Given the description of an element on the screen output the (x, y) to click on. 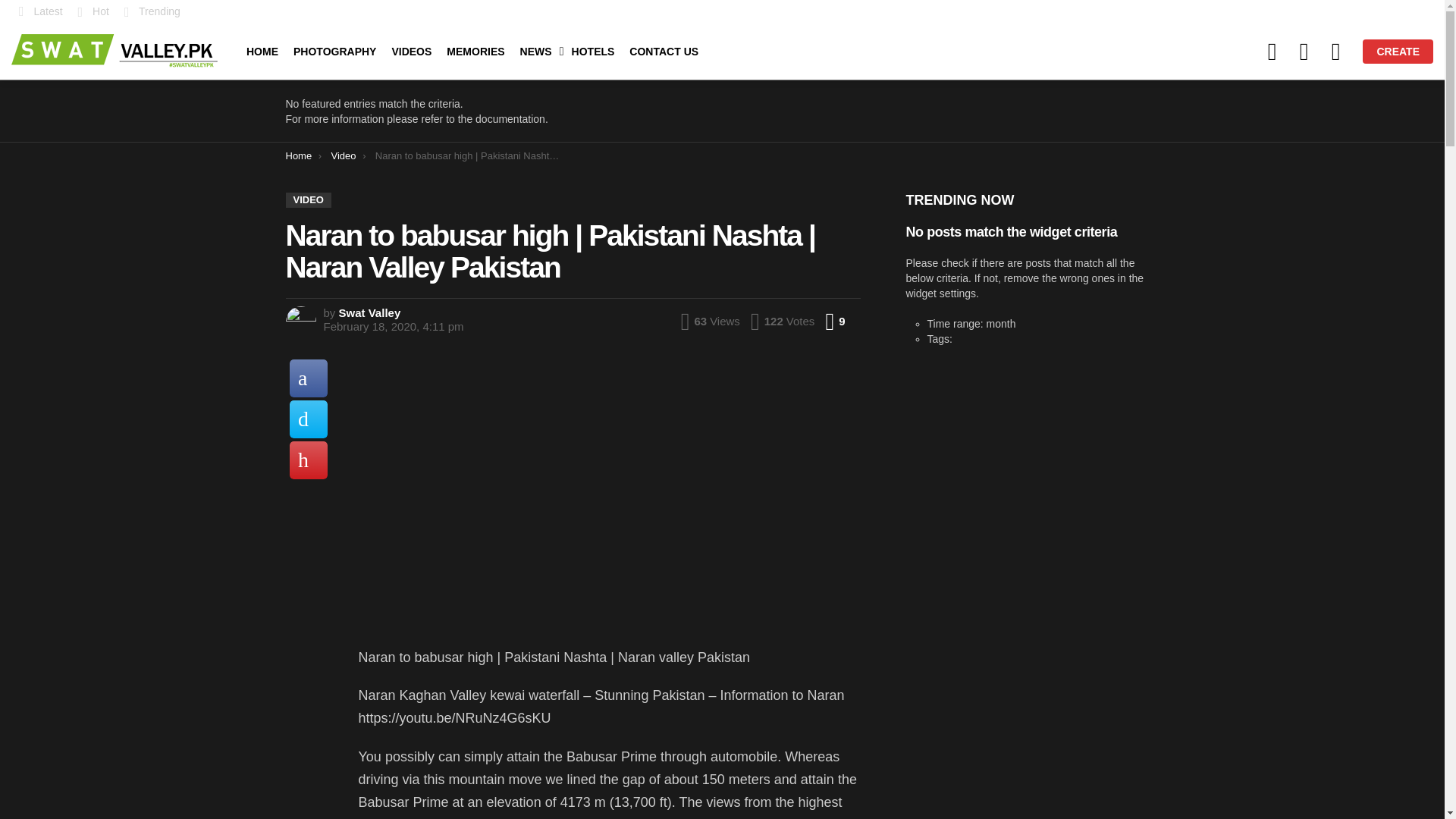
CONTACT US (663, 51)
CREATE (1397, 51)
Share on Pinterest (308, 460)
Posts by Swat Valley (370, 312)
HOTELS (593, 51)
Home (298, 155)
VIDEO (307, 200)
PHOTOGRAPHY (334, 51)
MEMORIES (475, 51)
Video (342, 155)
